Given the description of an element on the screen output the (x, y) to click on. 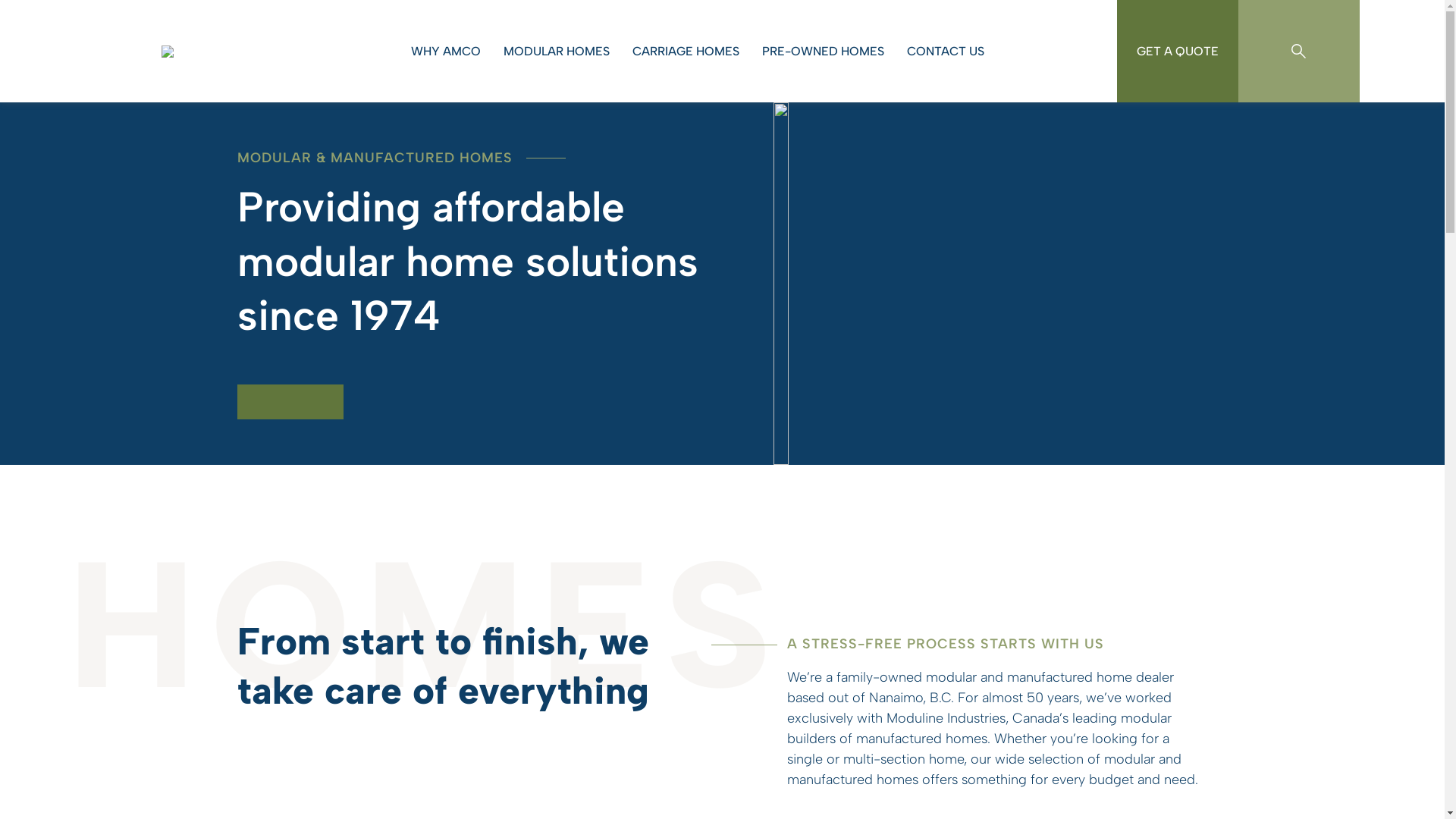
CONTACT US Element type: text (953, 50)
CARRIAGE HOMES Element type: text (693, 50)
WHY AMCO Element type: text (453, 50)
PRE-OWNED HOMES Element type: text (830, 50)
MODULAR HOMES Element type: text (563, 50)
